Given the description of an element on the screen output the (x, y) to click on. 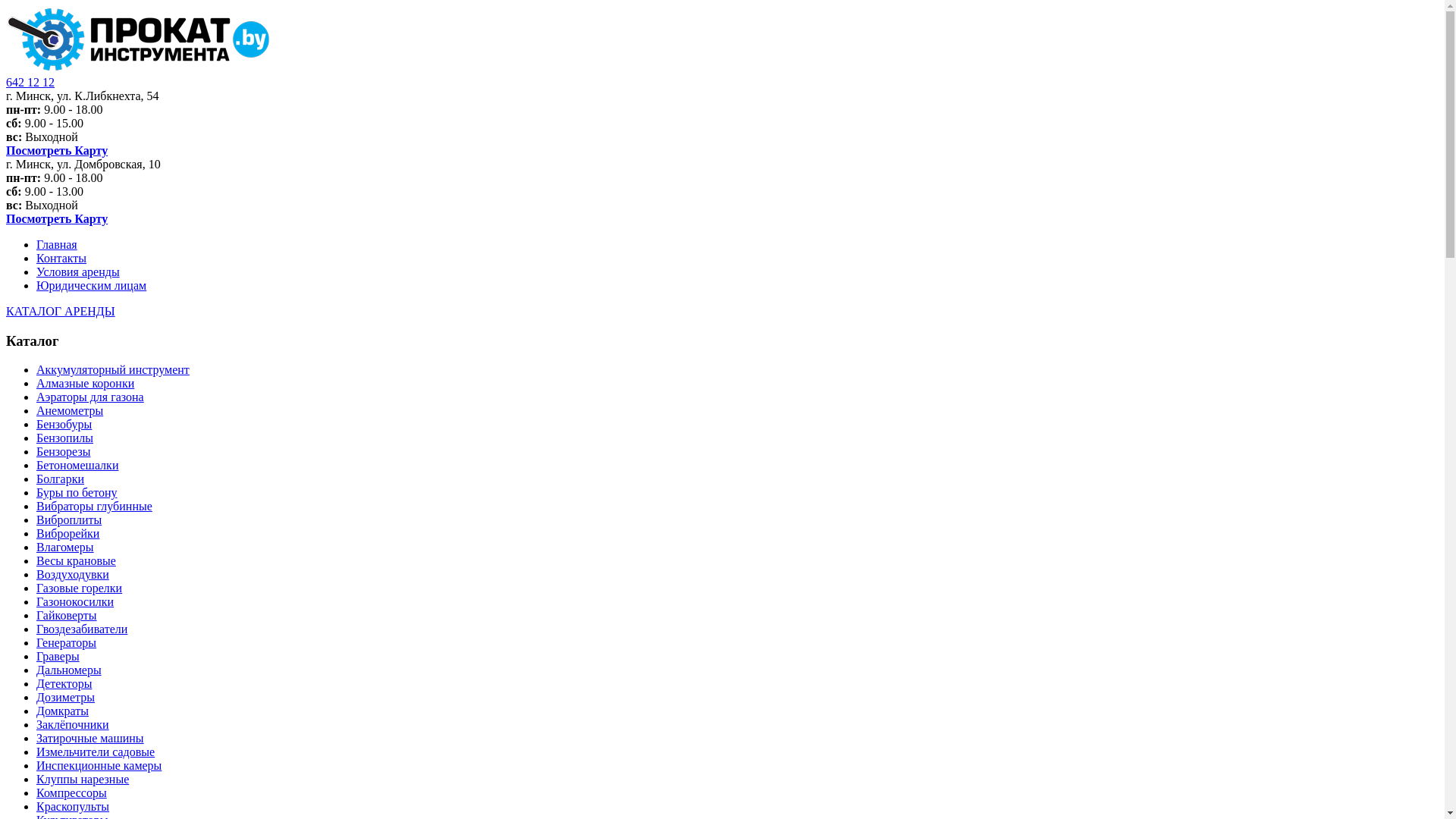
642 12 12 Element type: text (30, 81)
